Given the description of an element on the screen output the (x, y) to click on. 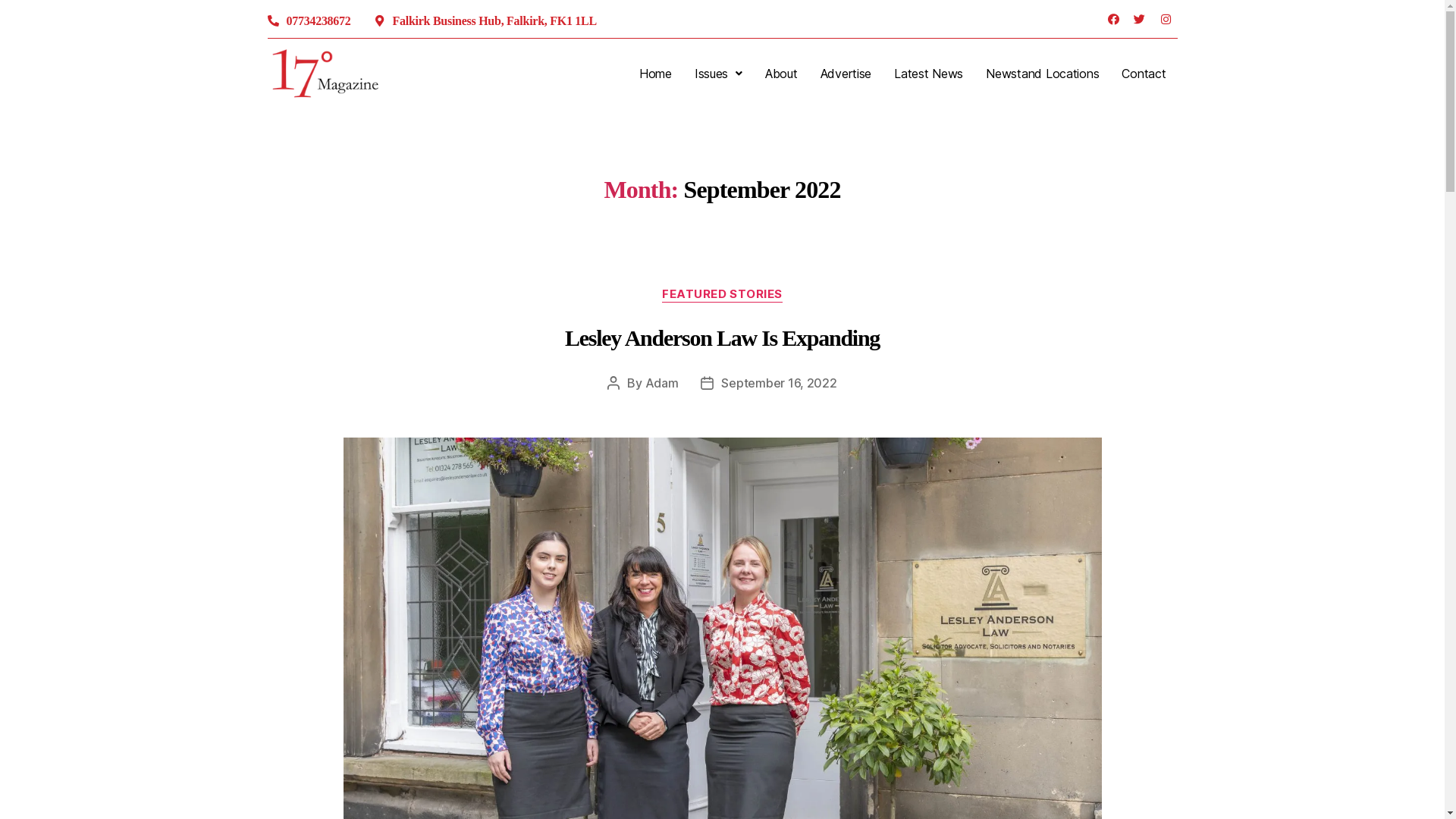
Home Element type: text (655, 73)
September 16, 2022 Element type: text (778, 382)
Advertise Element type: text (846, 73)
Adam Element type: text (661, 382)
Issues Element type: text (718, 73)
Contact Element type: text (1143, 73)
Latest News Element type: text (928, 73)
FEATURED STORIES Element type: text (722, 294)
About Element type: text (781, 73)
Lesley Anderson Law Is Expanding Element type: text (721, 337)
Newstand Locations Element type: text (1042, 73)
